Given the description of an element on the screen output the (x, y) to click on. 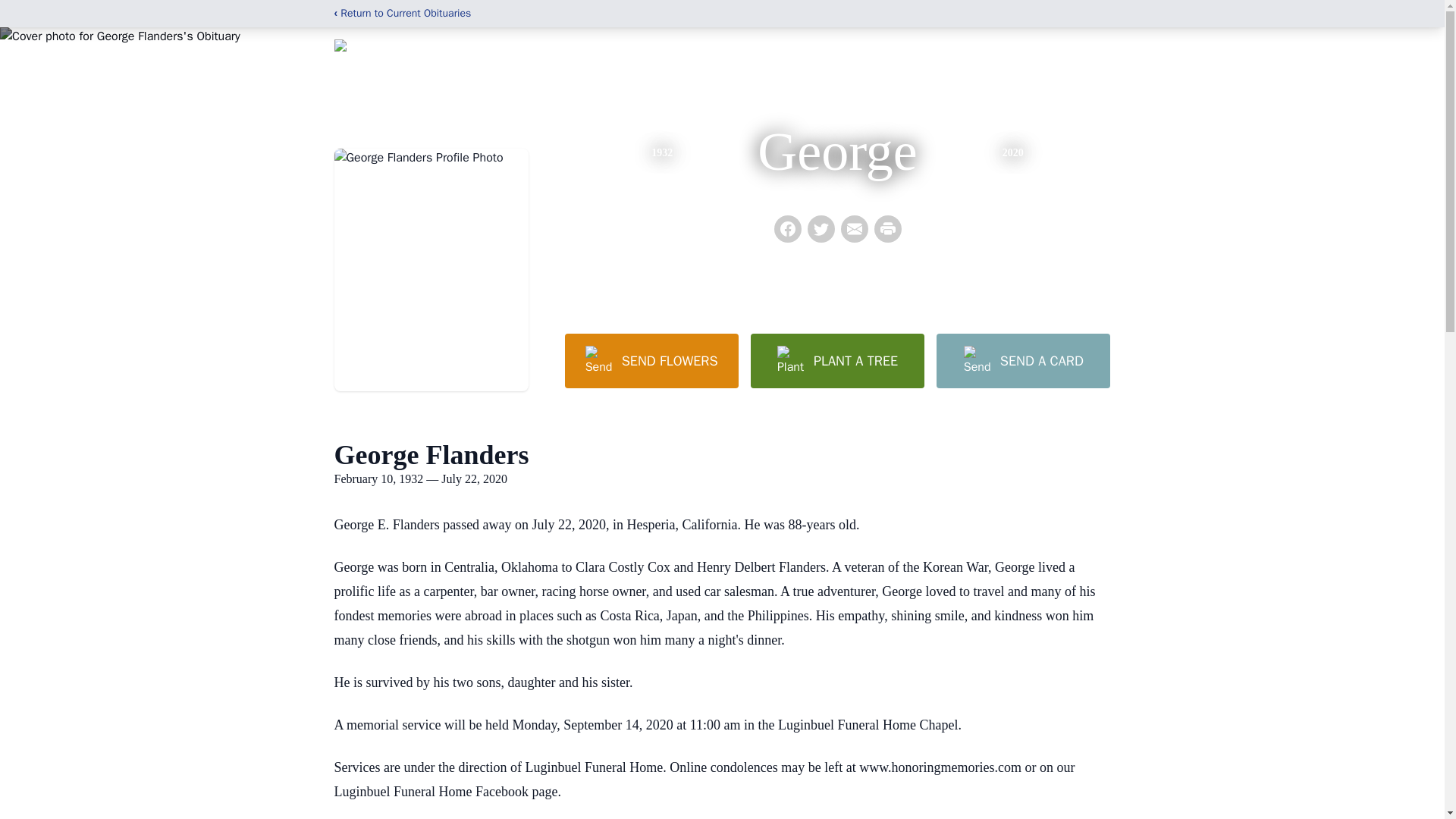
PLANT A TREE (837, 360)
SEND FLOWERS (651, 360)
SEND A CARD (1022, 360)
